Given the description of an element on the screen output the (x, y) to click on. 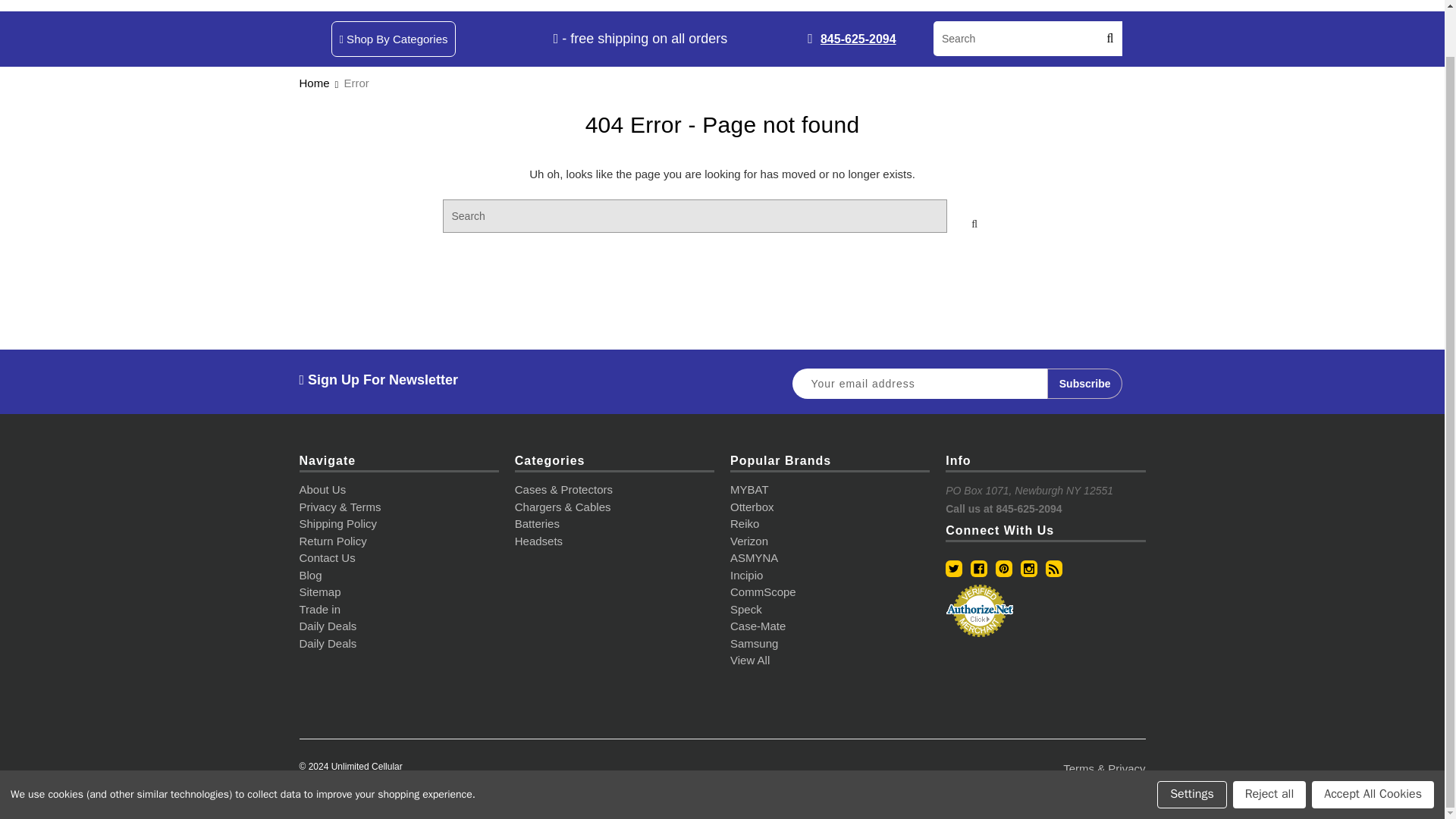
845-625-2094 (858, 38)
Subscribe (1084, 383)
Shop By Categories (392, 38)
